Given the description of an element on the screen output the (x, y) to click on. 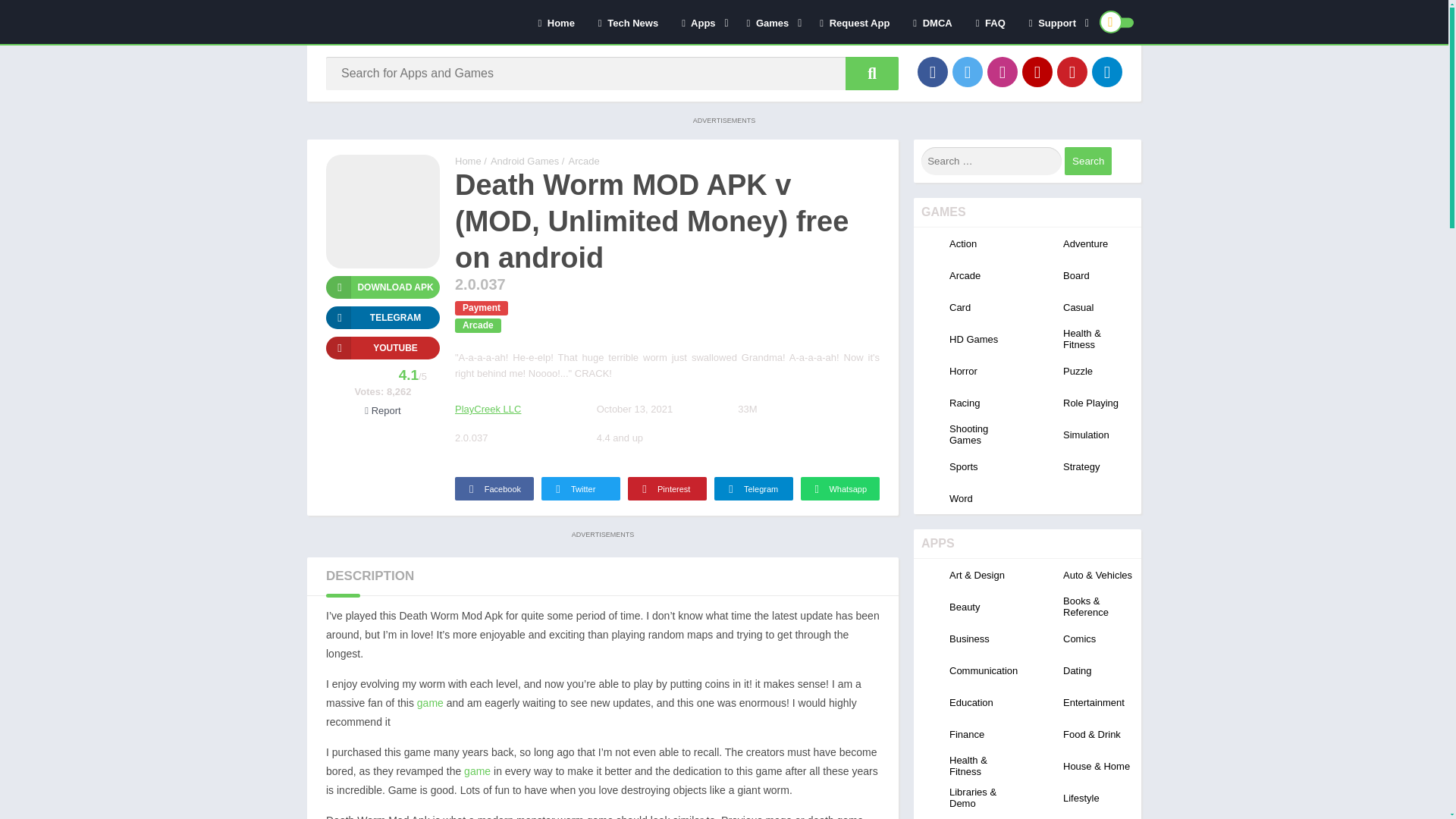
Apps (701, 22)
Twitter (967, 71)
Search (1088, 161)
Search for Apps and Games (871, 73)
Search (1088, 161)
YouTube (1037, 71)
Tech News (627, 22)
Telegram (1107, 71)
Home (555, 22)
Facebook (932, 71)
Androjungle (467, 161)
Download APK (382, 287)
Instagram (1002, 71)
Pinterest (1072, 71)
YouTube (382, 347)
